Given the description of an element on the screen output the (x, y) to click on. 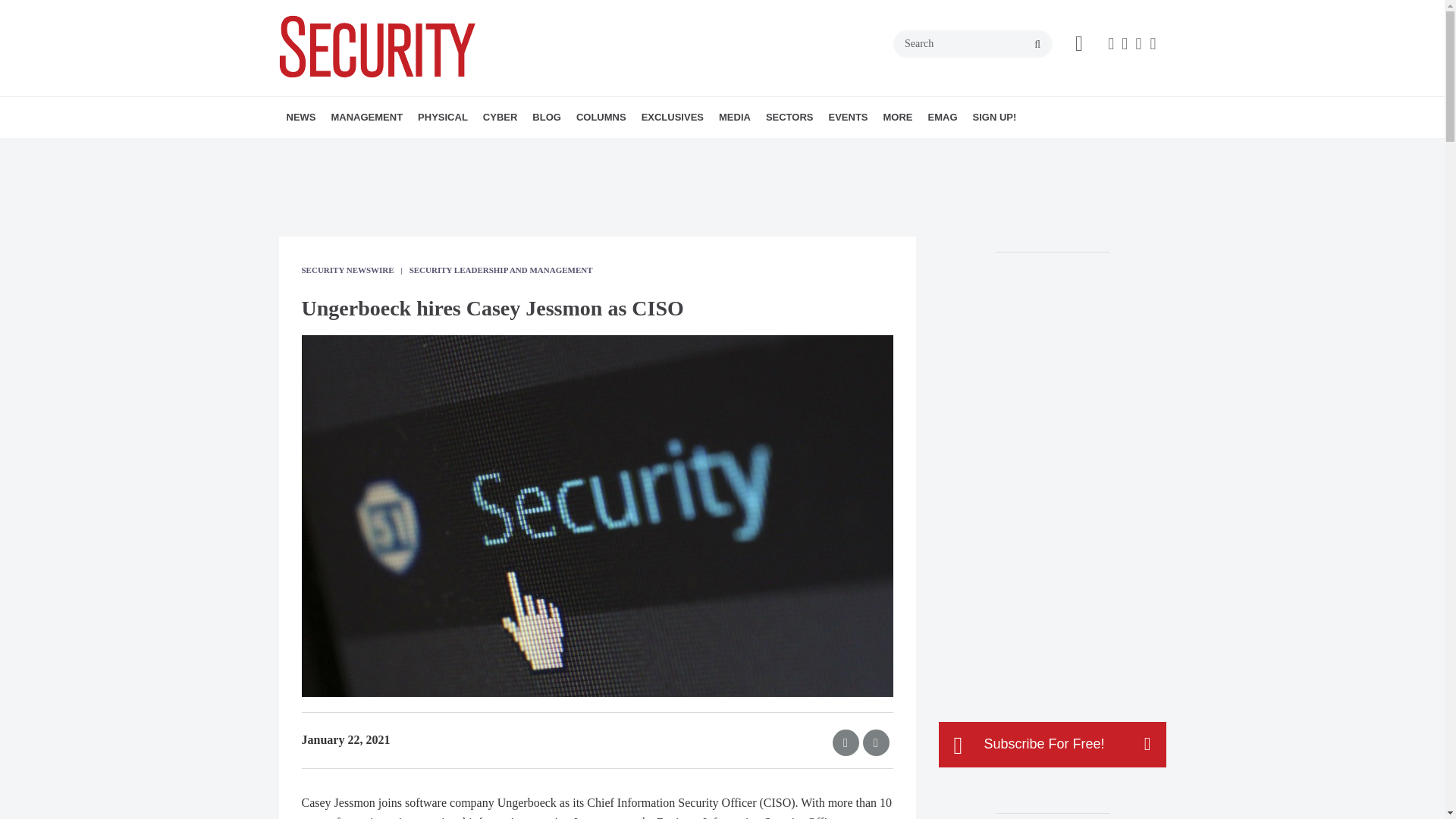
search (1037, 44)
MORE (440, 150)
CAREER INTELLIGENCE (682, 150)
IDENTITY MANAGEMENT (517, 150)
SECURITY TALK (676, 150)
CYBER TACTICS (663, 150)
BLOG (546, 117)
MANAGEMENT (366, 117)
CYBERSECURITY NEWS (570, 150)
COLUMNS (601, 117)
